Given the description of an element on the screen output the (x, y) to click on. 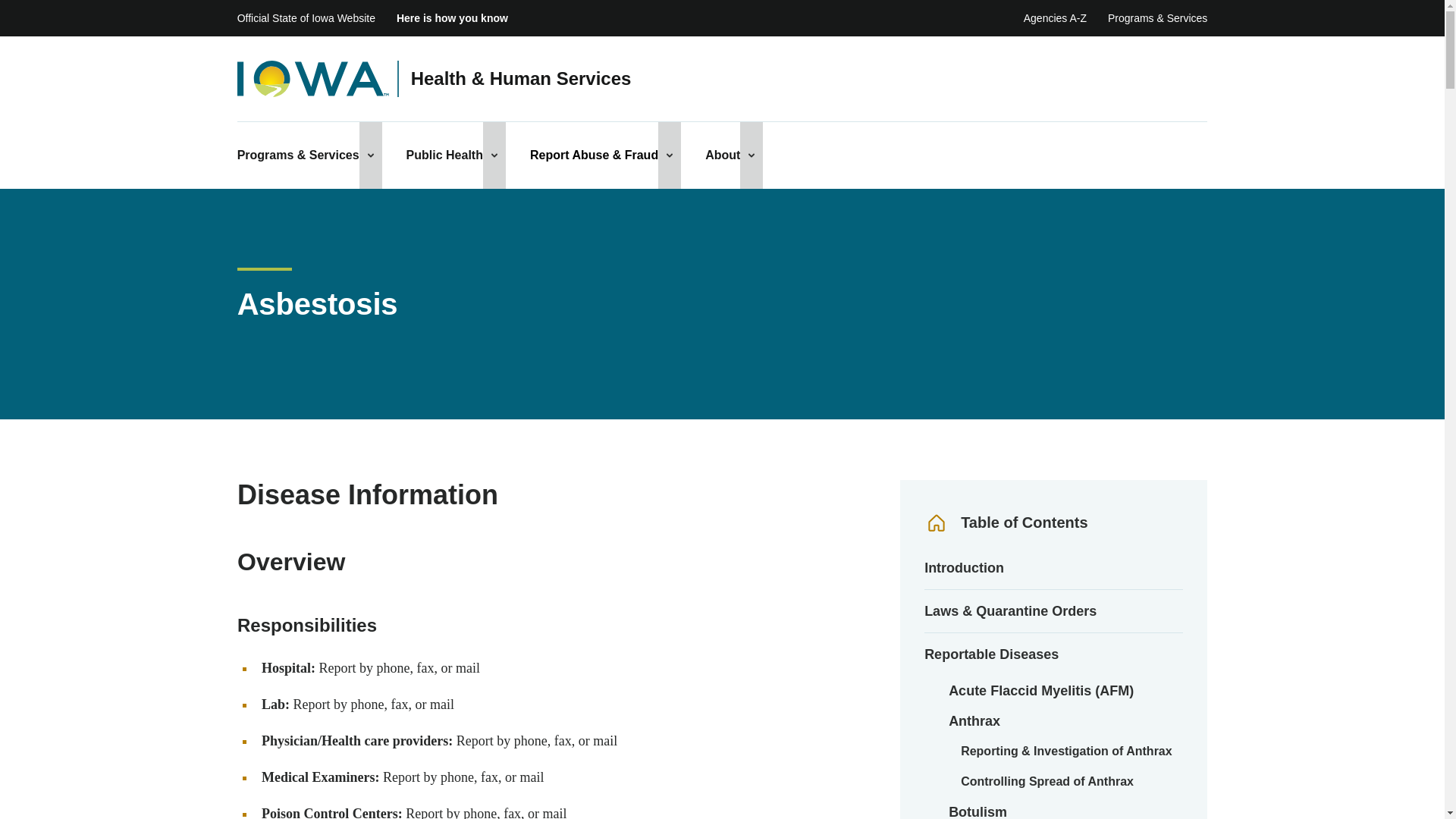
Agencies A-Z (1054, 18)
Here is how you know (452, 18)
